Given the description of an element on the screen output the (x, y) to click on. 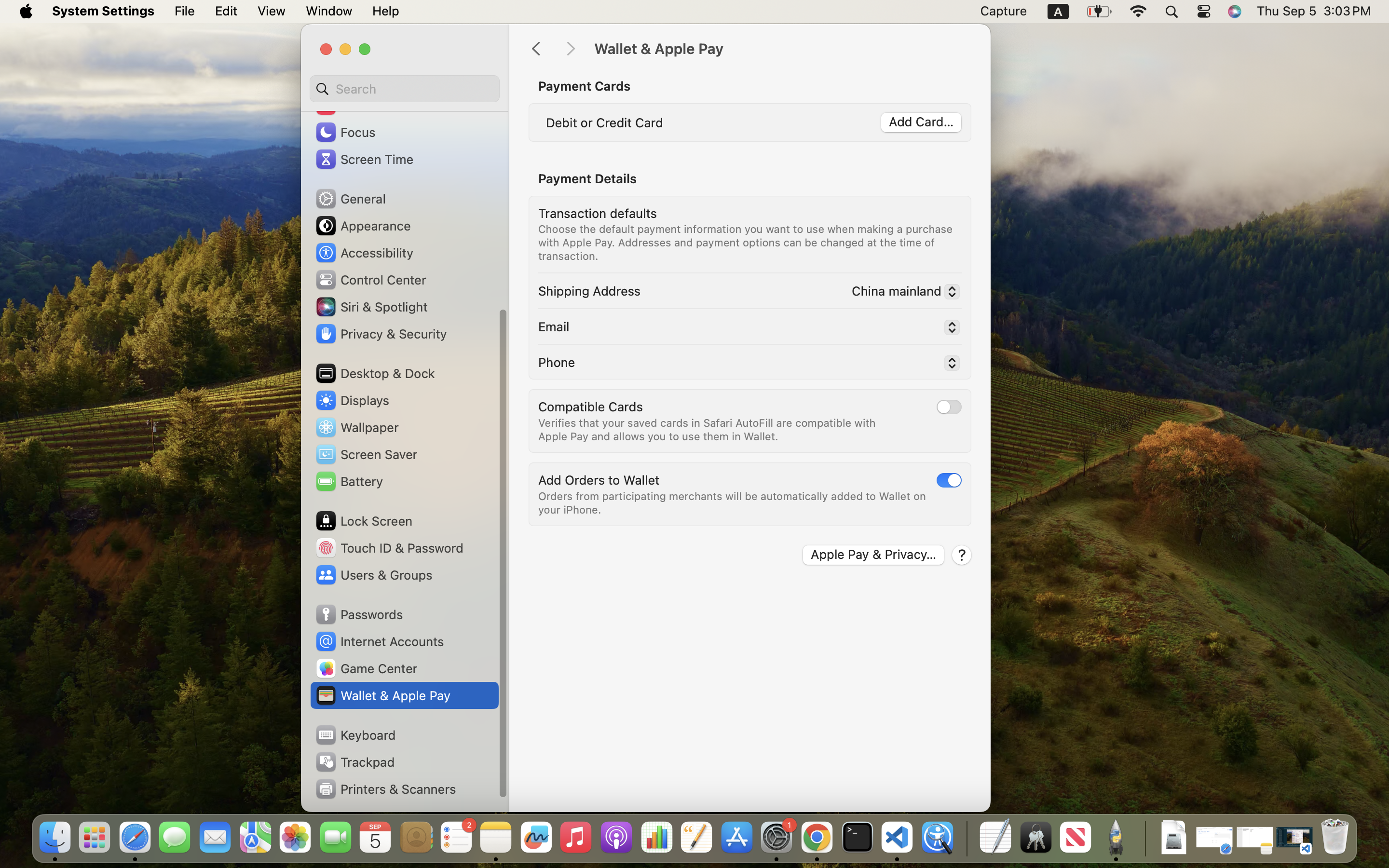
Focus Element type: AXStaticText (344, 131)
Wallet & Apple Pay Element type: AXStaticText (782, 49)
General Element type: AXStaticText (349, 198)
Orders from participating merchants will be automatically added to Wallet on your iPhone. Element type: AXStaticText (732, 501)
Screen Saver Element type: AXStaticText (365, 453)
